Given the description of an element on the screen output the (x, y) to click on. 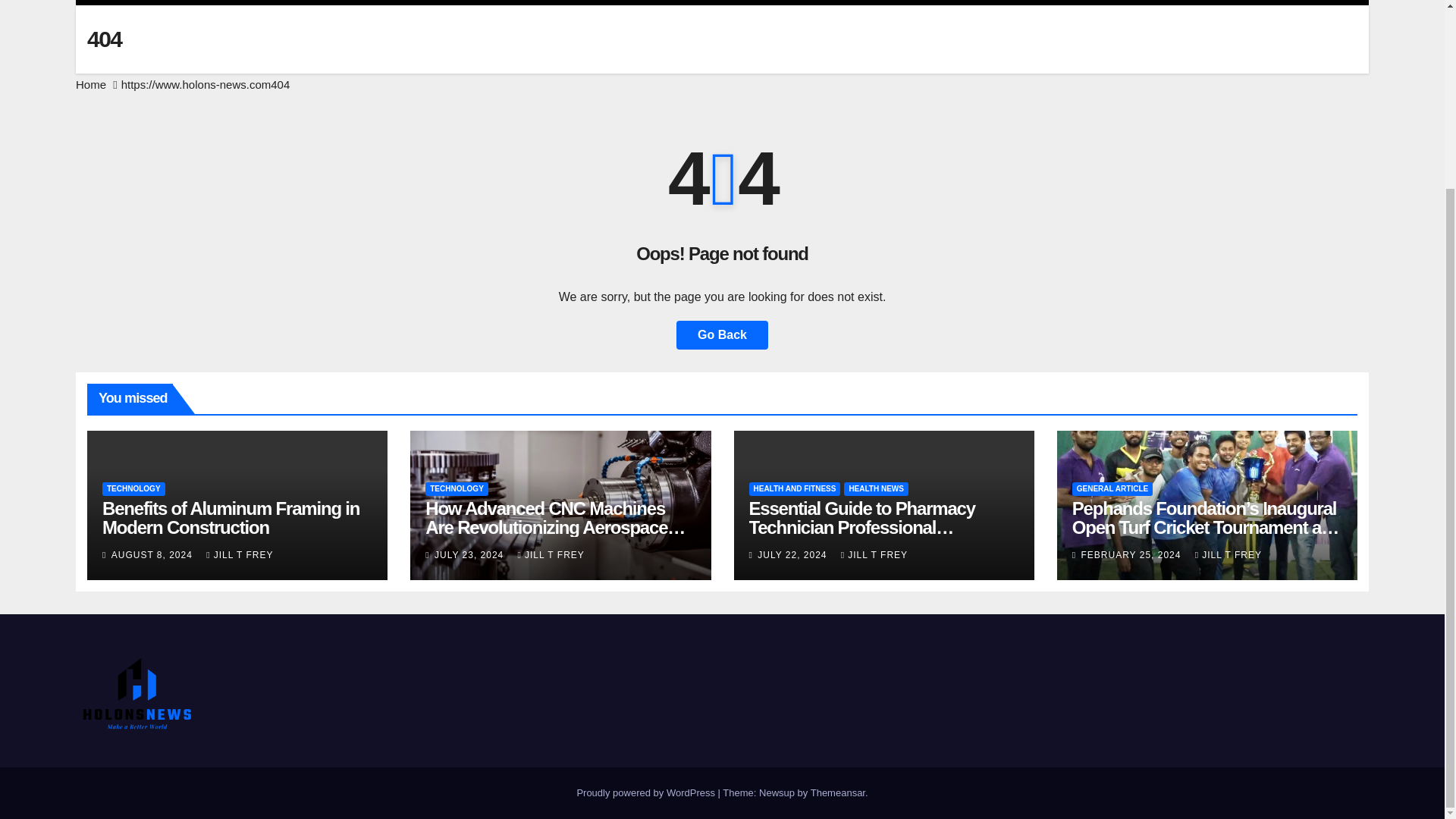
BUSINESS (164, 2)
Culture (260, 2)
Business (164, 2)
CULTURE (260, 2)
Lifestyle (358, 2)
LIFESTYLE (358, 2)
